Given the description of an element on the screen output the (x, y) to click on. 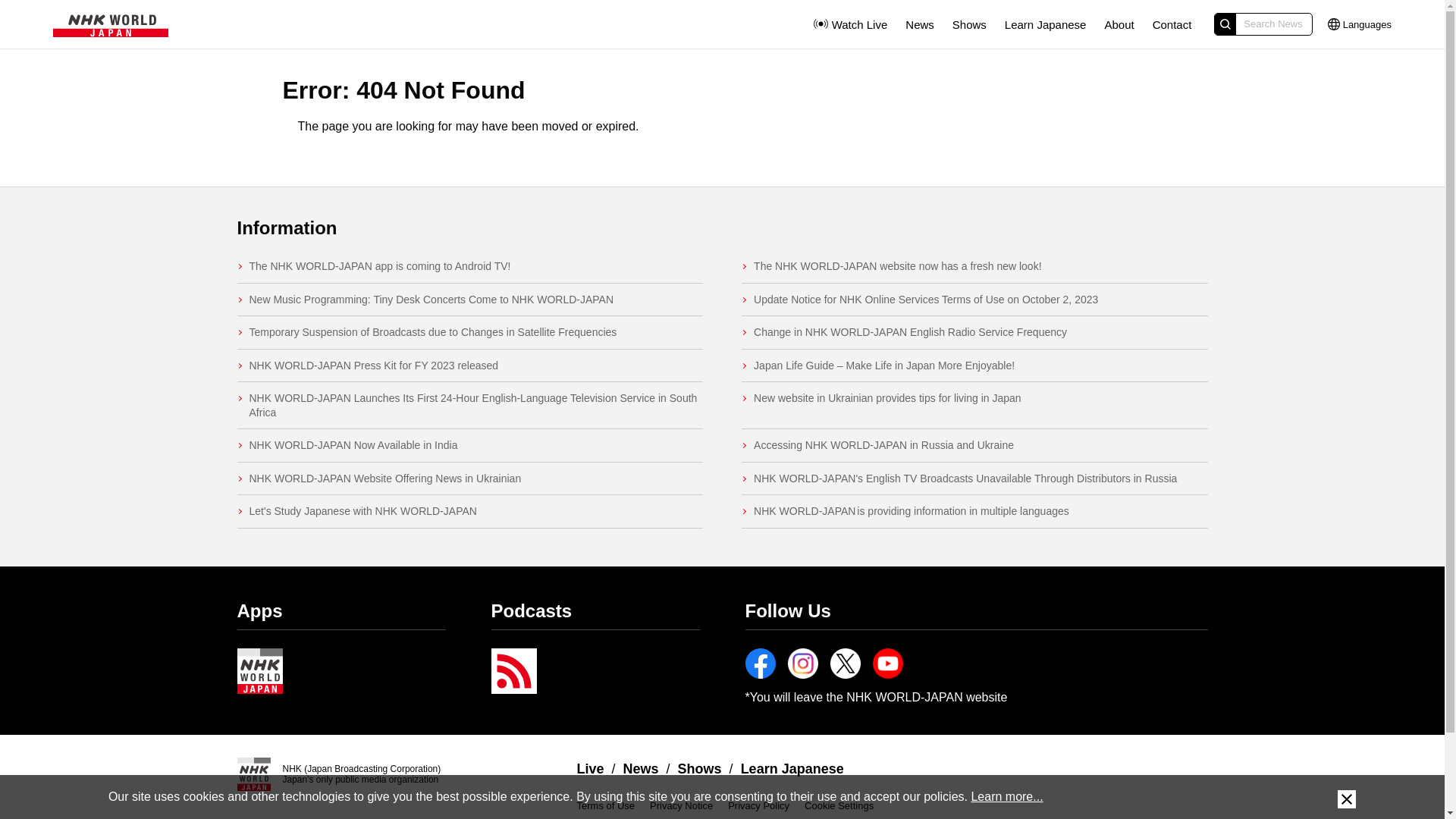
Learn Japanese (1045, 24)
Languages (1359, 24)
Contact (1172, 24)
News (919, 24)
Shows (969, 24)
About (1118, 24)
Watch Live (848, 24)
Search News (1262, 24)
